Given the description of an element on the screen output the (x, y) to click on. 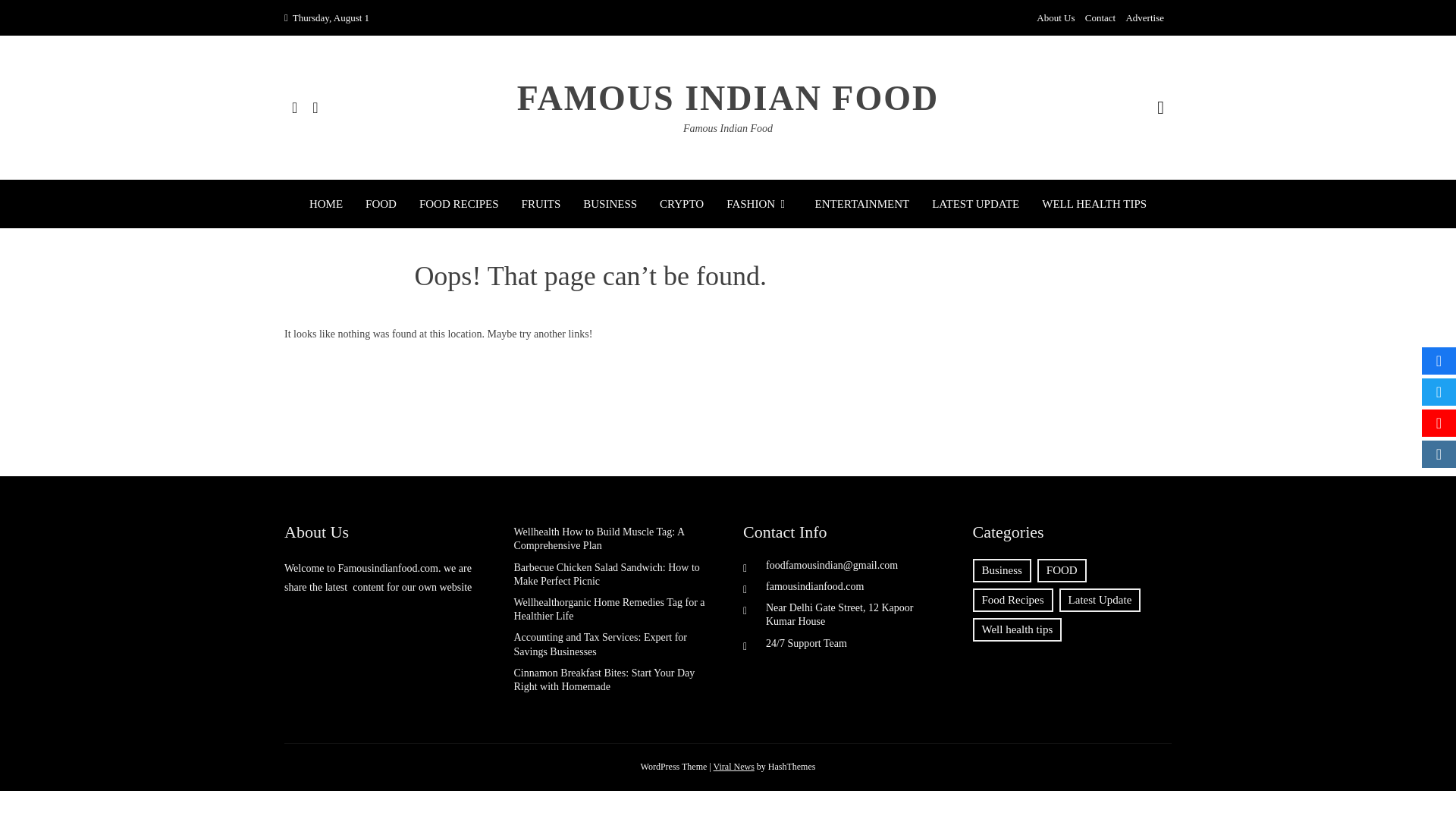
Viral News (733, 766)
Advertise (1144, 17)
Wellhealthorganic Home Remedies Tag for a Healthier Life (608, 609)
BUSINESS (610, 203)
CRYPTO (681, 203)
About Us (1055, 17)
Business (1001, 570)
Famous Indian Food (727, 128)
LATEST UPDATE (975, 203)
FASHION (759, 203)
